Given the description of an element on the screen output the (x, y) to click on. 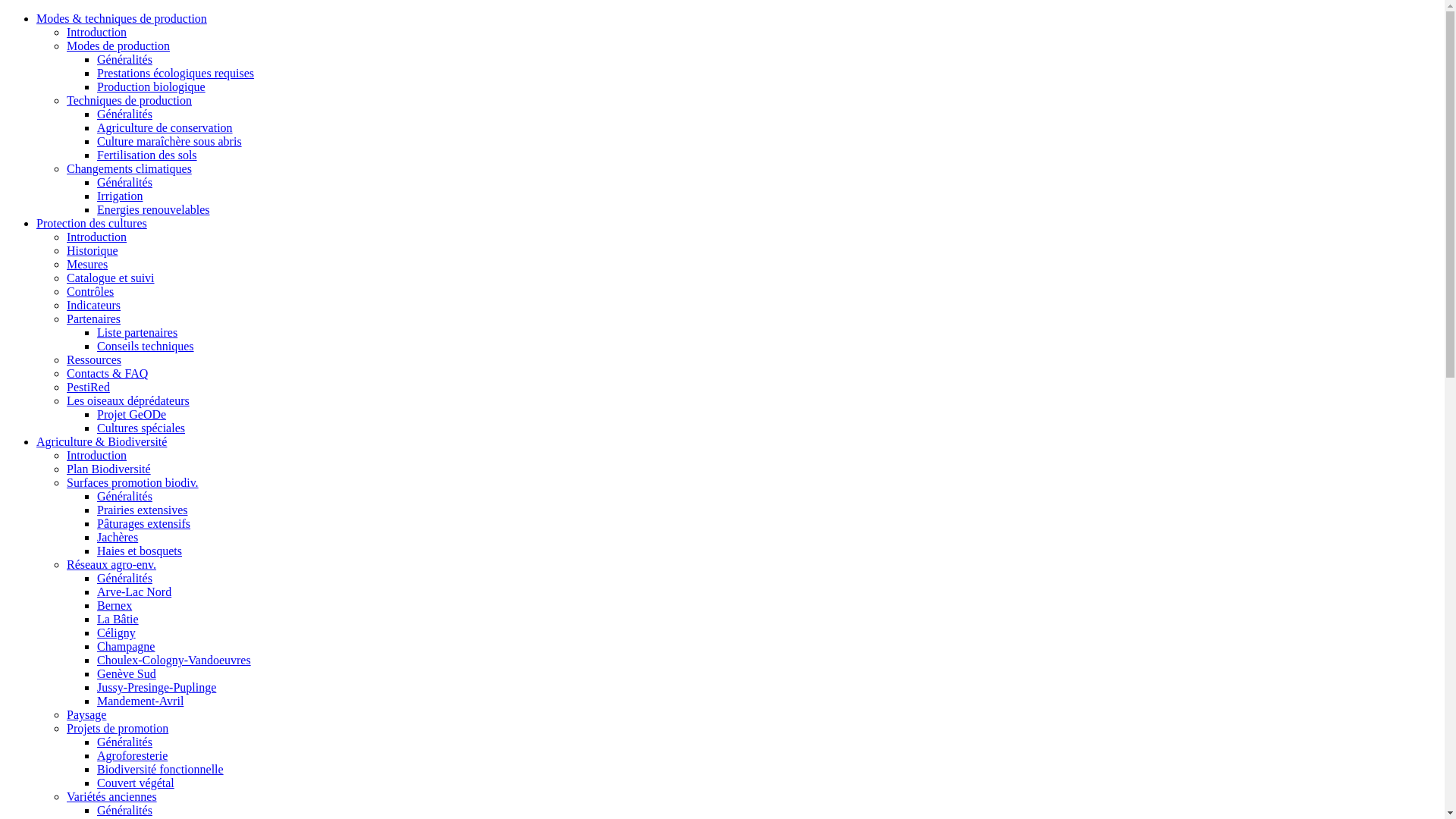
Modes de production Element type: text (117, 45)
Conseils techniques Element type: text (145, 345)
Arve-Lac Nord Element type: text (134, 591)
Choulex-Cologny-Vandoeuvres Element type: text (174, 659)
Modes & techniques de production Element type: text (121, 18)
Agroforesterie Element type: text (132, 755)
Prairies extensives Element type: text (142, 509)
Mesures Element type: text (86, 263)
Techniques de production Element type: text (128, 100)
Ressources Element type: text (93, 359)
Historique Element type: text (92, 250)
Energies renouvelables Element type: text (153, 209)
Bernex Element type: text (114, 605)
Changements climatiques Element type: text (128, 168)
Indicateurs Element type: text (93, 304)
Projets de promotion Element type: text (117, 727)
Agriculture de conservation Element type: text (164, 127)
Contacts & FAQ Element type: text (106, 373)
Paysage Element type: text (86, 714)
Fertilisation des sols Element type: text (147, 154)
Introduction Element type: text (96, 454)
Partenaires Element type: text (93, 318)
Protection des cultures Element type: text (91, 222)
Liste partenaires Element type: text (137, 332)
Introduction Element type: text (96, 236)
Catalogue et suivi Element type: text (110, 277)
Introduction Element type: text (96, 31)
Surfaces promotion biodiv. Element type: text (132, 482)
PestiRed Element type: text (87, 386)
Jussy-Presinge-Puplinge Element type: text (156, 686)
Irrigation Element type: text (119, 195)
Mandement-Avril Element type: text (140, 700)
Projet GeODe Element type: text (131, 413)
Production biologique Element type: text (151, 86)
Champagne Element type: text (125, 646)
Haies et bosquets Element type: text (139, 550)
